Given the description of an element on the screen output the (x, y) to click on. 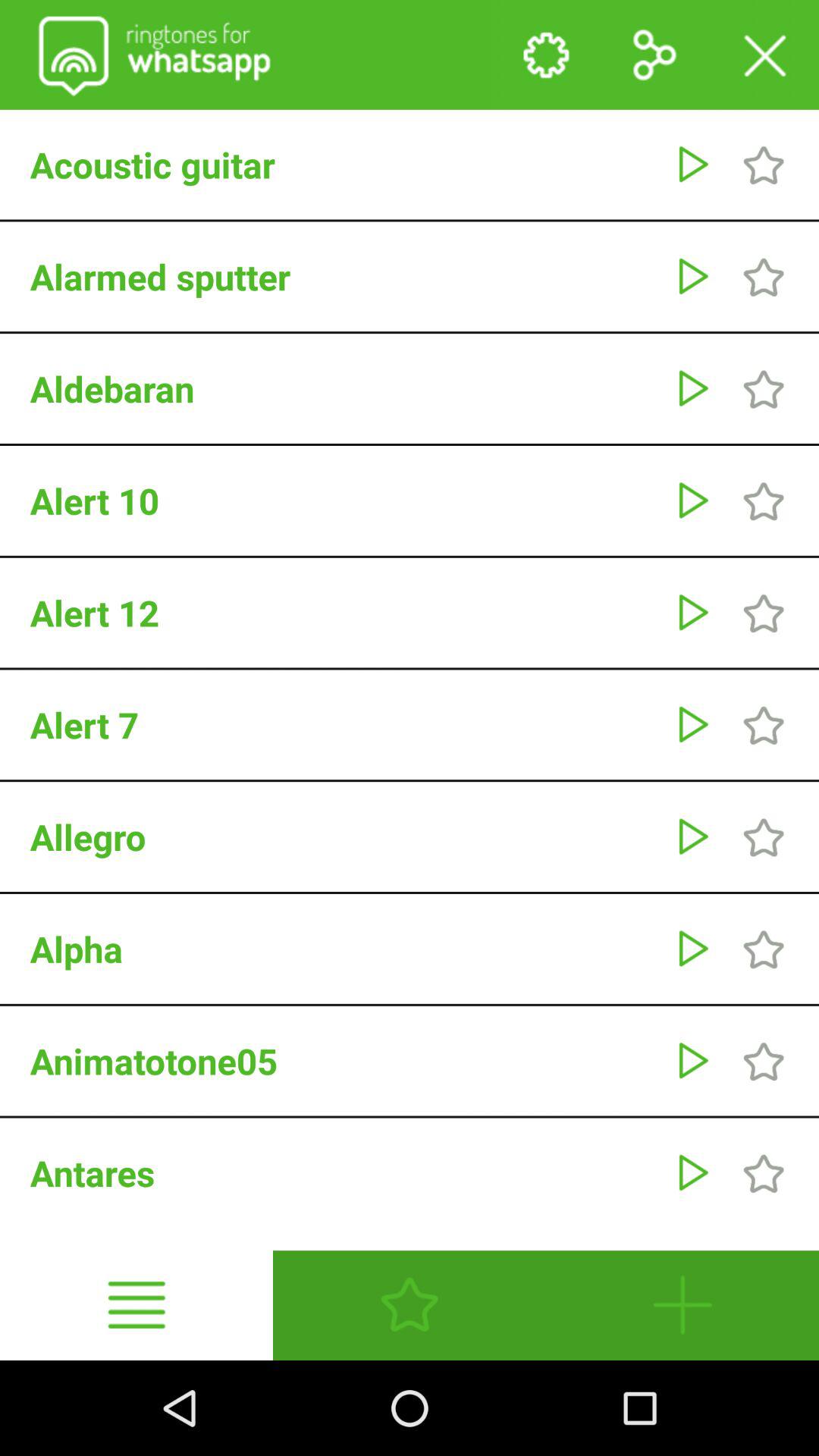
swipe to the aldebaran (344, 388)
